Given the description of an element on the screen output the (x, y) to click on. 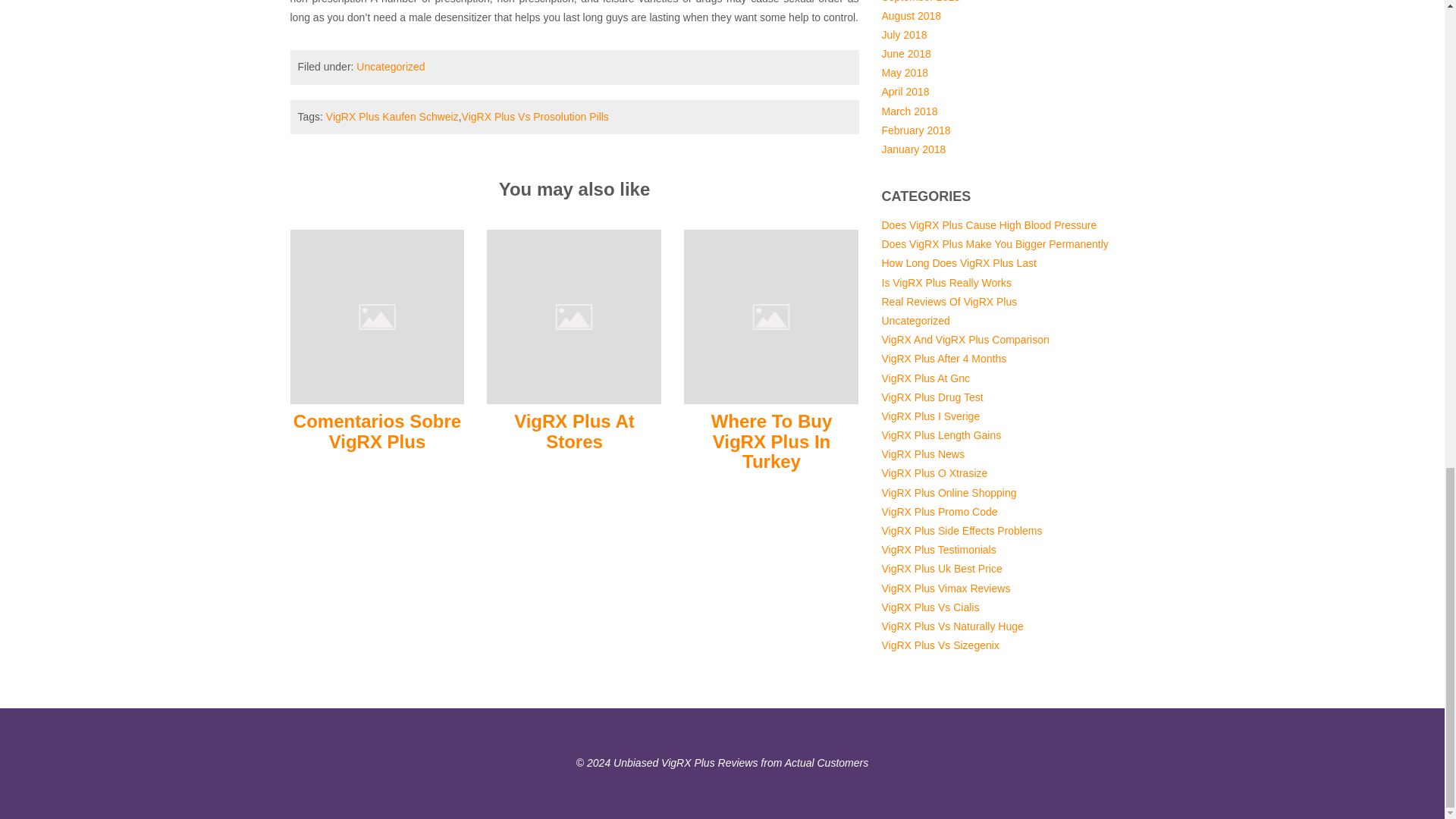
VigRX Plus Vs Prosolution Pills (534, 116)
Where To Buy VigRX Plus In Turkey (771, 316)
Comentarios Sobre VigRX Plus (376, 316)
VigRX Plus At Stores (573, 316)
Comentarios Sobre VigRX Plus (377, 431)
VigRX Plus At Stores (573, 431)
Where To Buy VigRX Plus In Turkey (771, 441)
Uncategorized (390, 66)
VigRX Plus Kaufen Schweiz (392, 116)
